Given the description of an element on the screen output the (x, y) to click on. 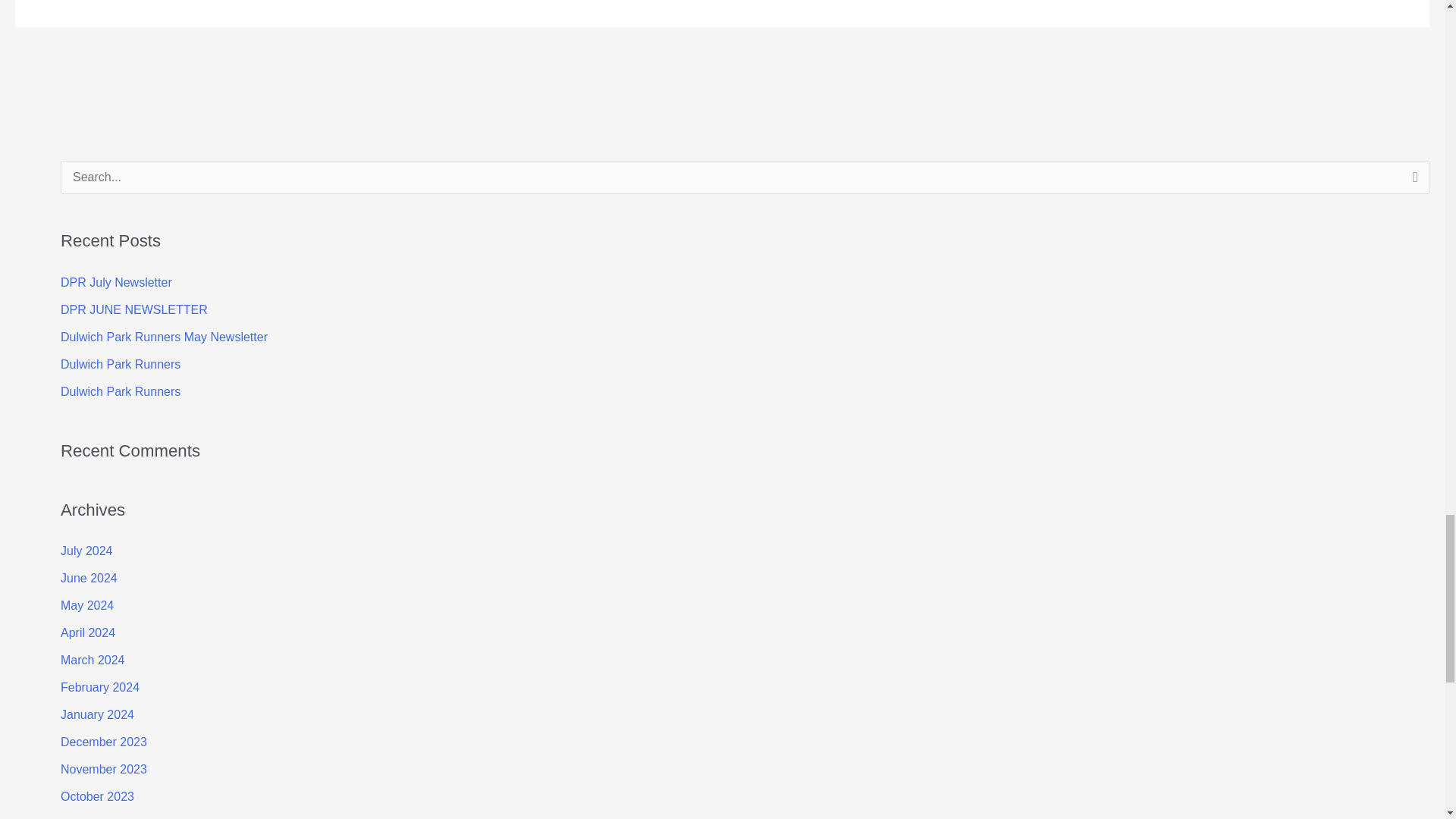
Search (1411, 181)
Search (1411, 181)
